Given the description of an element on the screen output the (x, y) to click on. 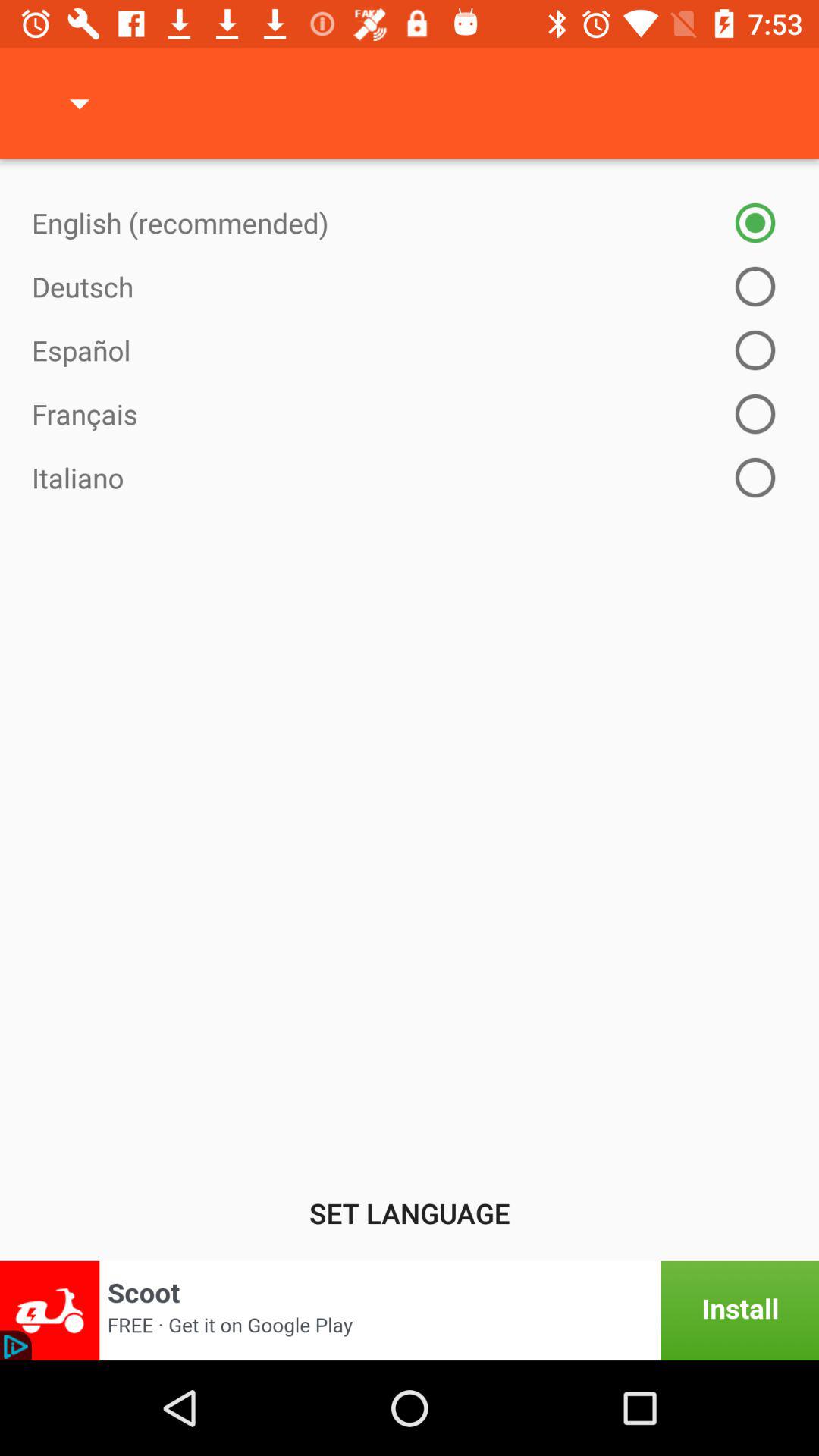
select the icon at the top left corner (79, 103)
